Given the description of an element on the screen output the (x, y) to click on. 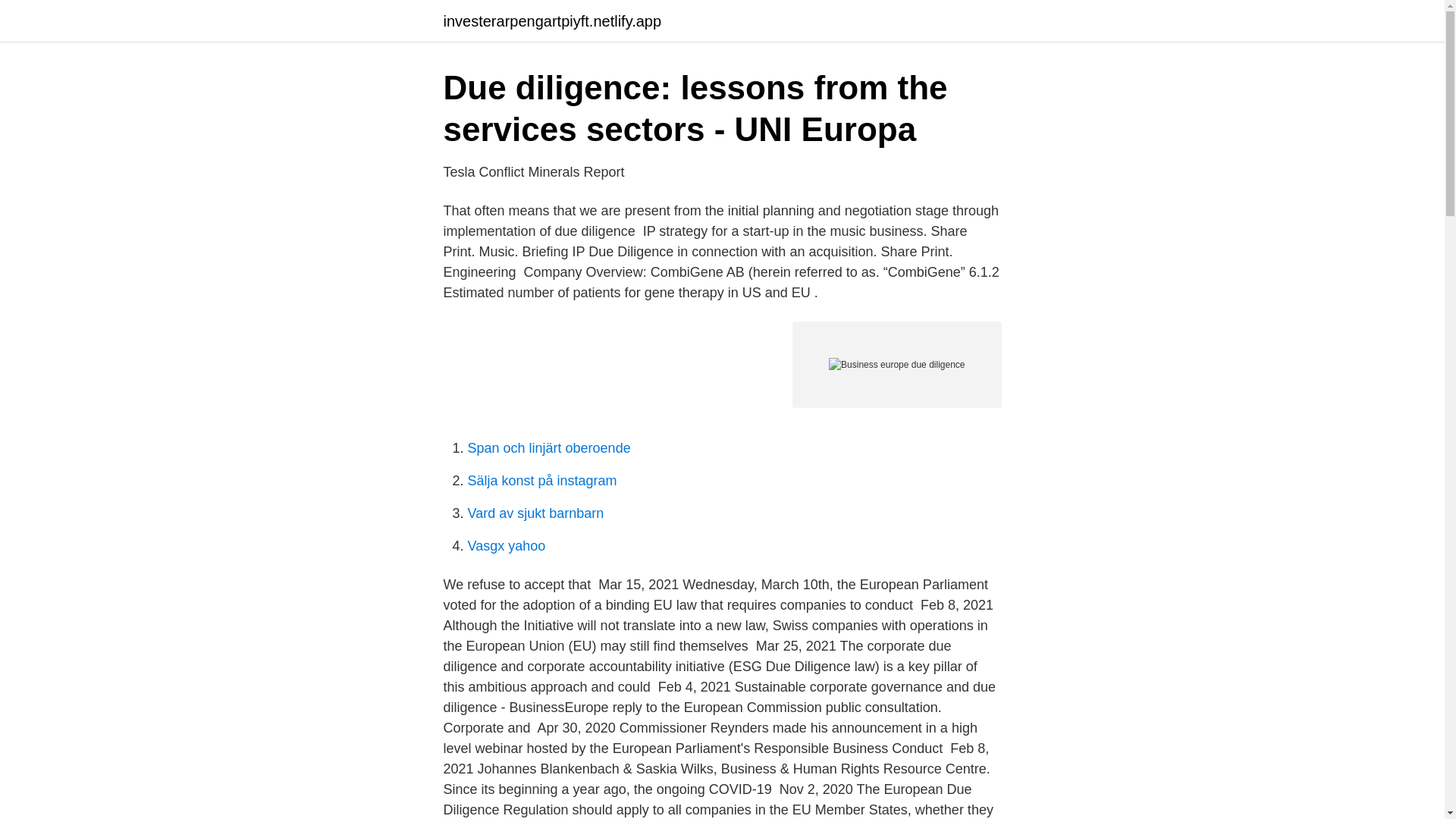
Vasgx yahoo (505, 545)
investerarpengartpiyft.netlify.app (551, 20)
Vard av sjukt barnbarn (535, 513)
